Given the description of an element on the screen output the (x, y) to click on. 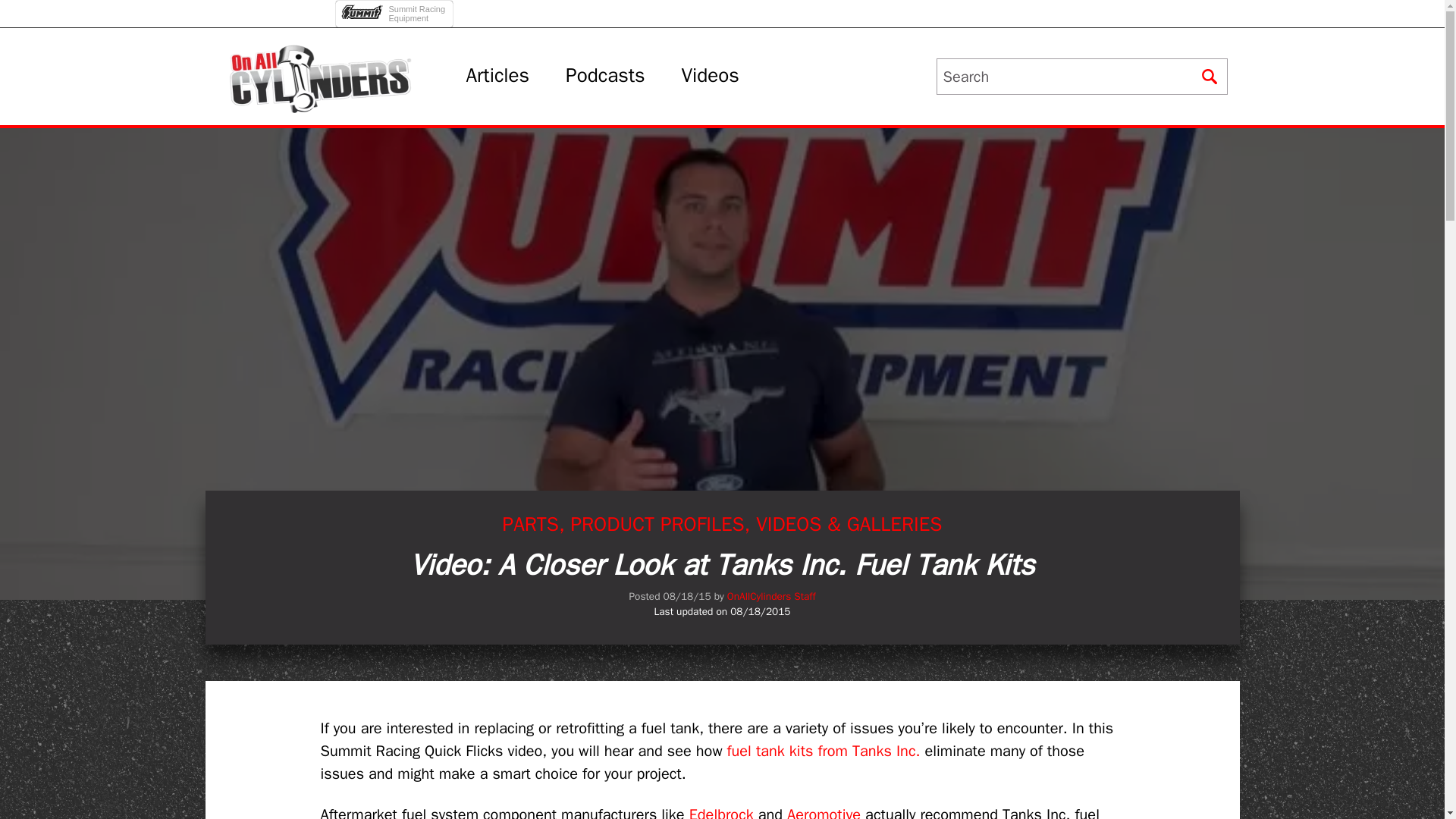
Articles (395, 9)
Videos (497, 76)
Podcasts (709, 76)
